Given the description of an element on the screen output the (x, y) to click on. 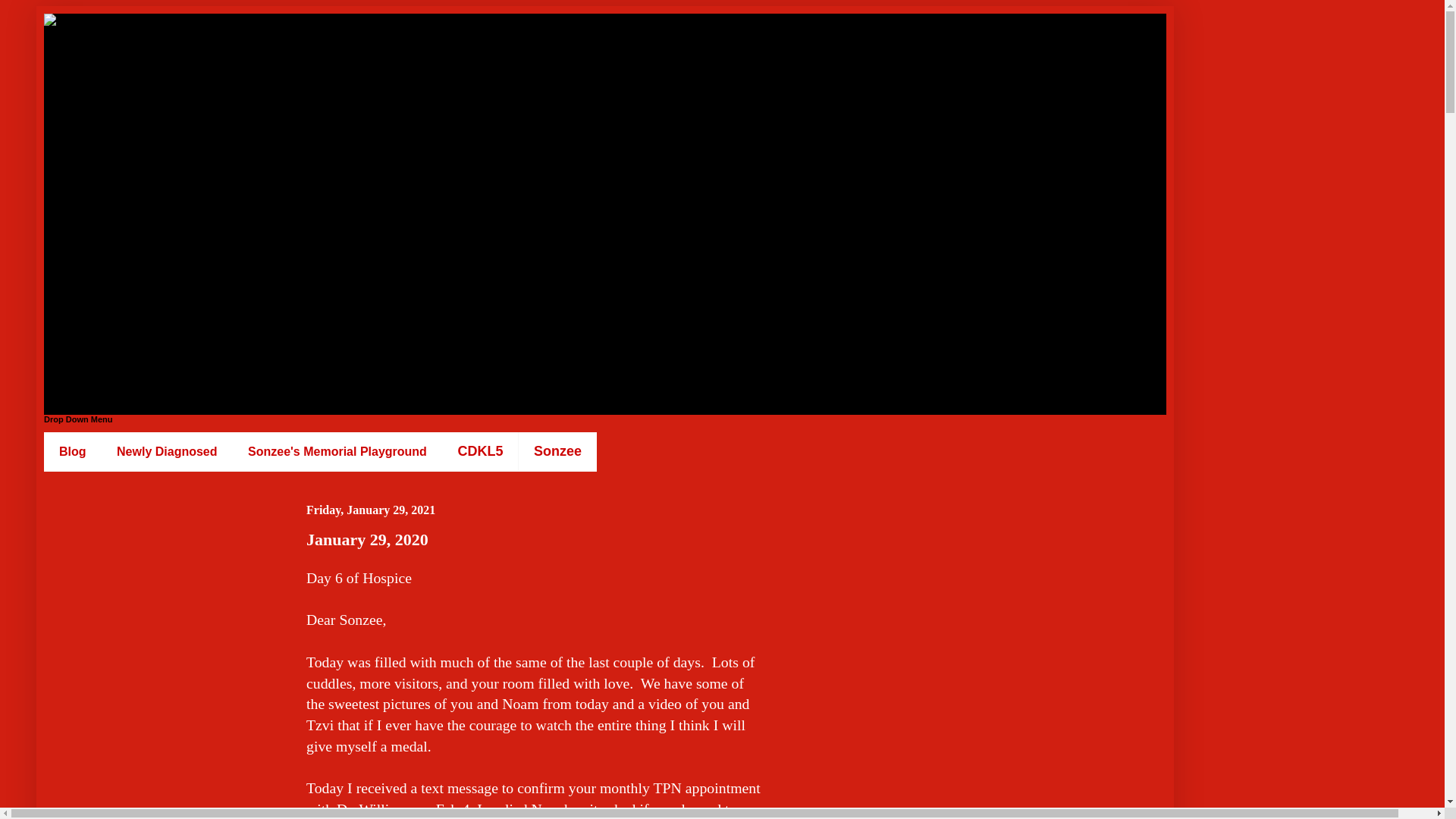
Blog (72, 451)
Newly Diagnosed (166, 451)
Sonzee's Memorial Playground (336, 451)
